Given the description of an element on the screen output the (x, y) to click on. 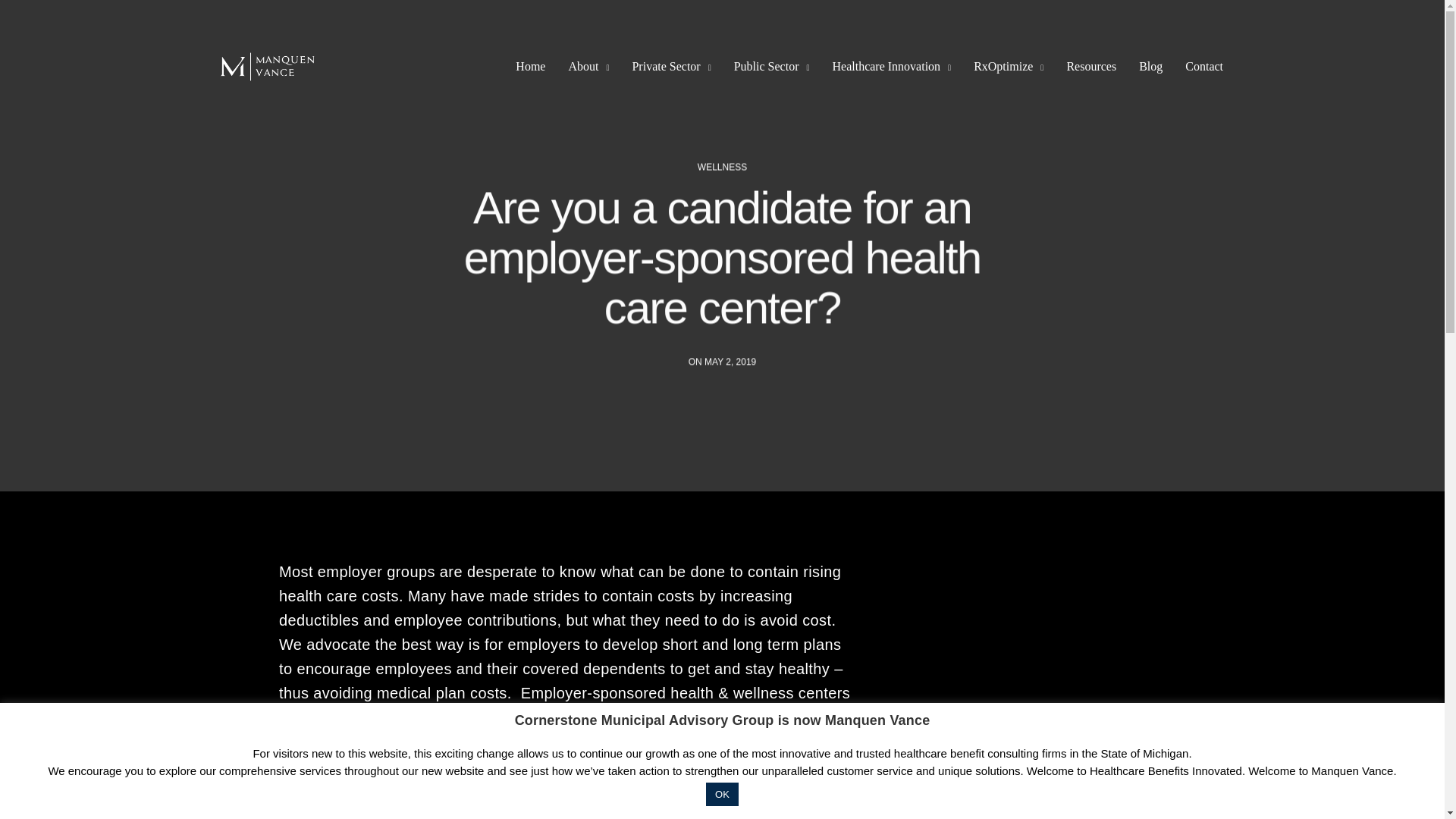
Private Sector (670, 66)
Contact (1204, 66)
Manquen Vance (267, 66)
Resources (1090, 66)
Healthcare Innovation (892, 66)
RxOptimize (1008, 66)
Public Sector (771, 66)
WELLNESS (721, 166)
About (587, 66)
